Given the description of an element on the screen output the (x, y) to click on. 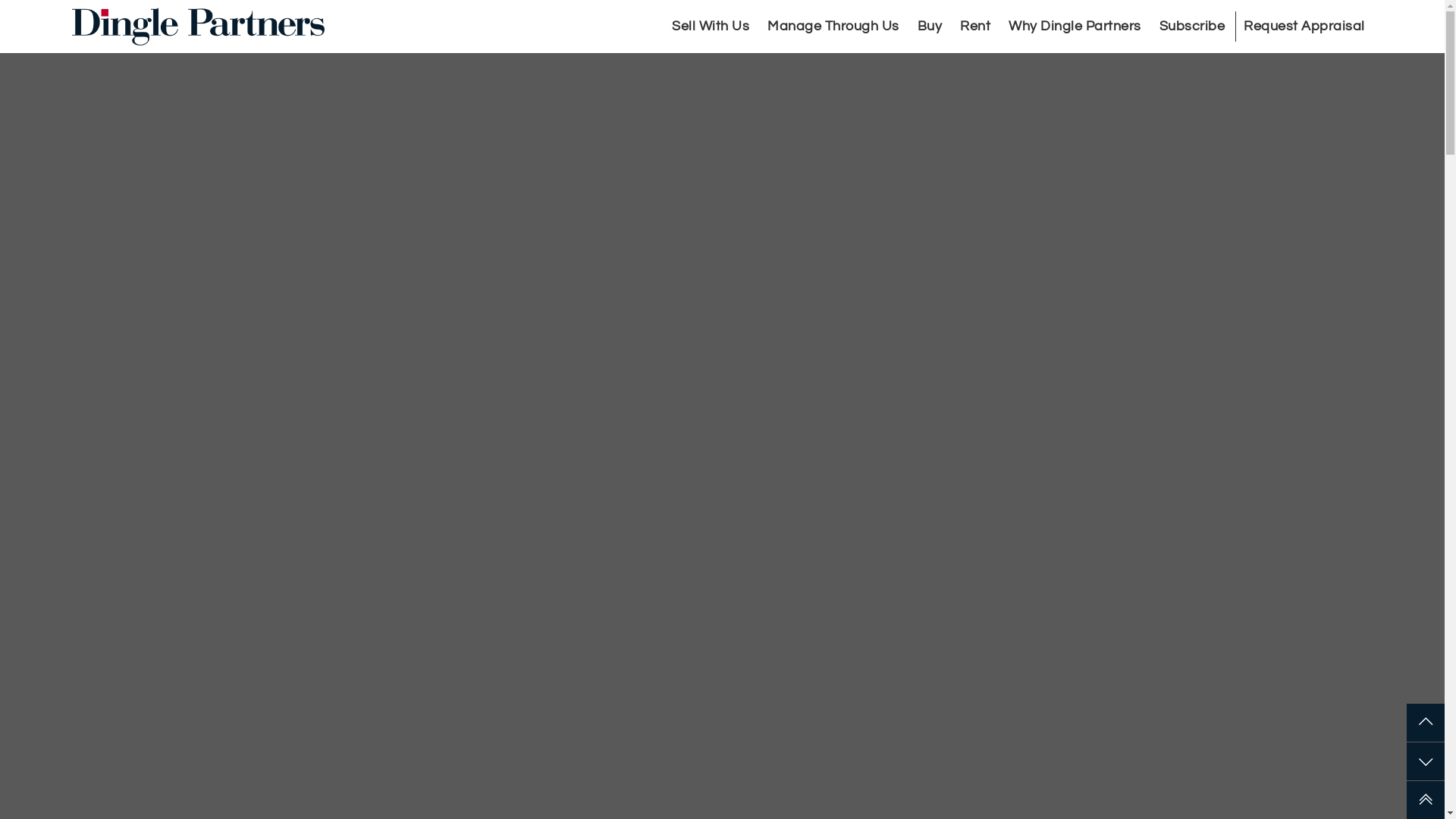
Manage Through Us Element type: text (832, 26)
Subscribe Element type: text (1192, 26)
Request Appraisal Element type: text (1304, 26)
Buy Element type: text (930, 26)
WEBSITE BG DRAFT6 BW Element type: hover (722, 406)
Sell With Us Element type: text (710, 26)
Why Dingle Partners Element type: text (1074, 26)
Rent Element type: text (974, 26)
